Given the description of an element on the screen output the (x, y) to click on. 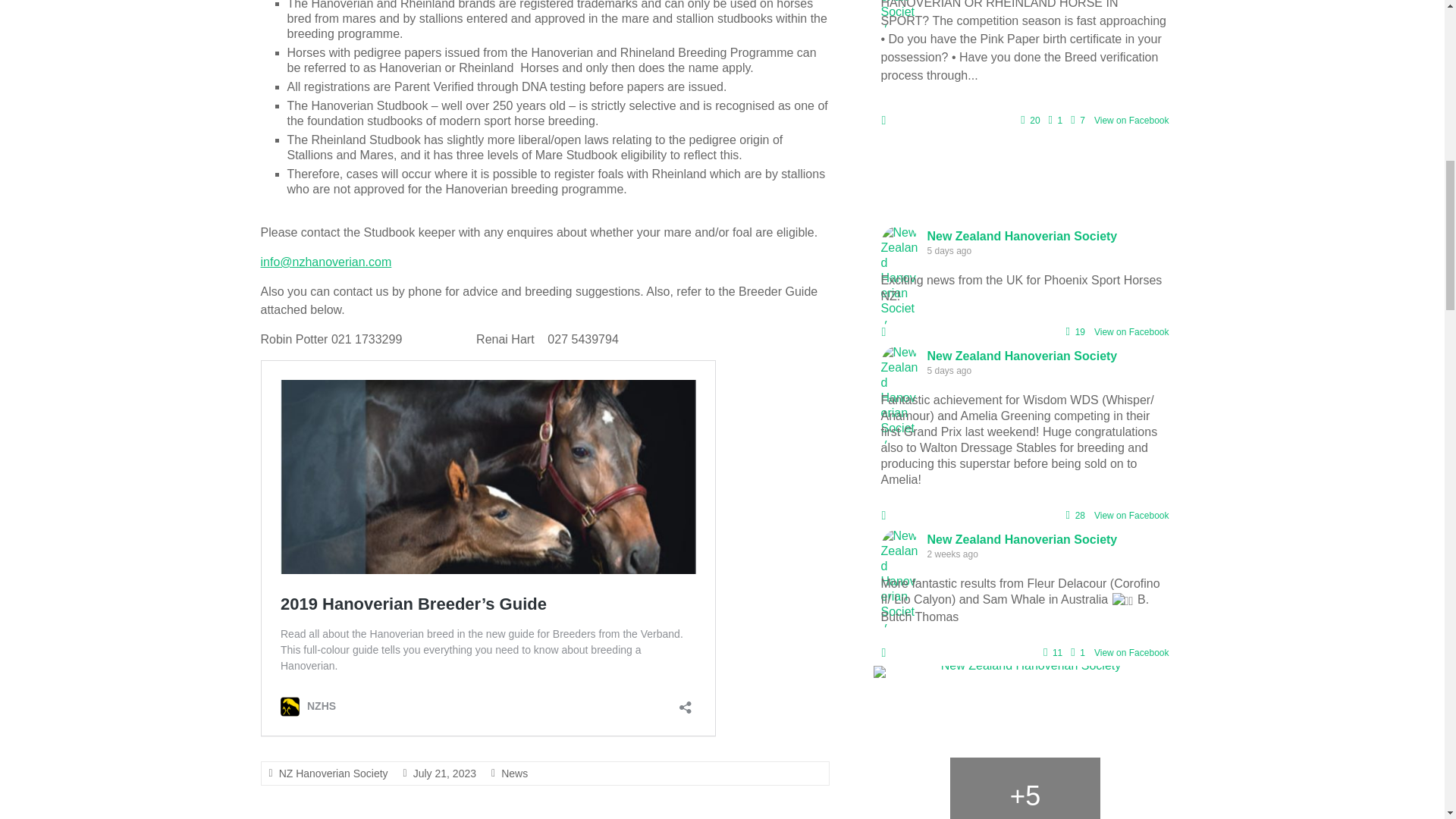
NZ Hanoverian Society (333, 773)
News (513, 773)
12:00 pm (444, 773)
July 21, 2023 (444, 773)
